Given the description of an element on the screen output the (x, y) to click on. 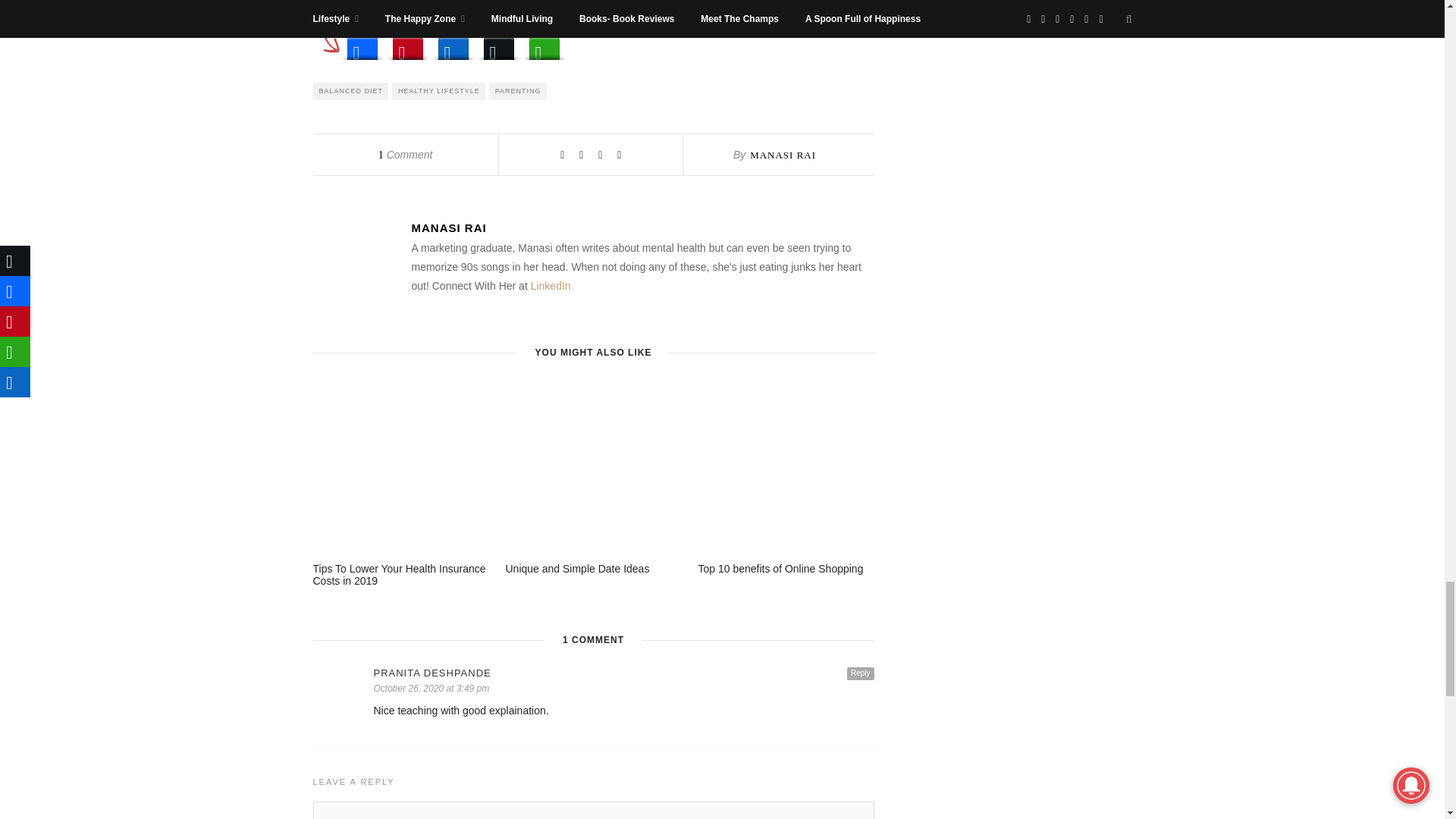
Pinterest (407, 44)
Posts by Manasi Rai (641, 227)
LinkedIn (453, 44)
Posts by Manasi Rai (782, 154)
WhatsApp (544, 44)
Facebook (362, 44)
